Given the description of an element on the screen output the (x, y) to click on. 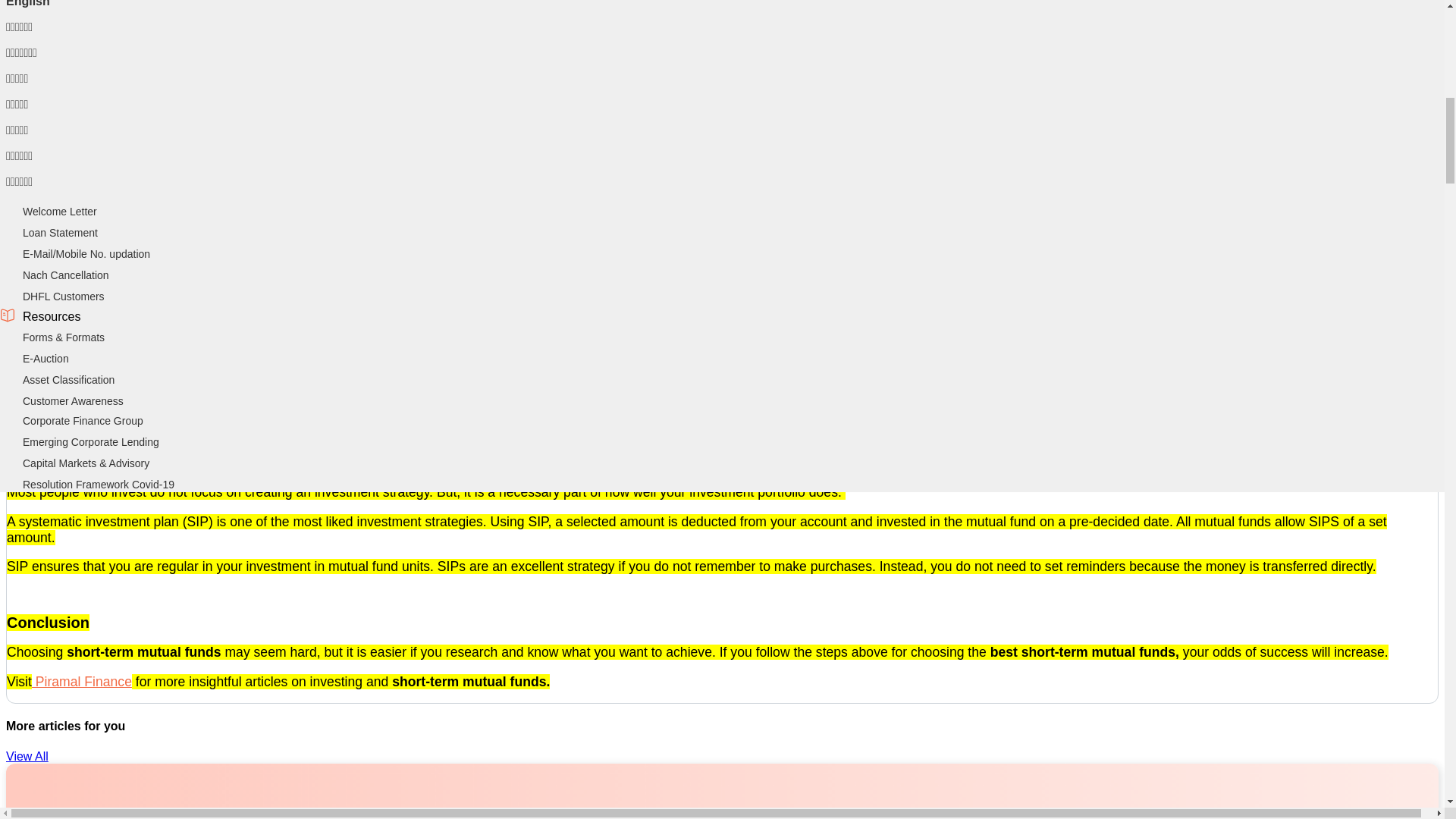
Resolution Framework2 Covid-19 (101, 275)
Loan Against Property (75, 211)
Pre-owned Car Loan (71, 337)
Frequently asked questions (87, 21)
Renovation Loan (63, 64)
Pradhan Mantri Awas Yojana (90, 149)
Business Loan (58, 190)
Working Capital Loan (73, 254)
Group Loan (50, 358)
Recent Conversations (75, 42)
Secured Business Loan (79, 232)
Resolution Framework Covid-19 (98, 484)
Real Estate Financing (74, 399)
Loan Balance Transfer (76, 106)
Extension Loan (59, 85)
